Given the description of an element on the screen output the (x, y) to click on. 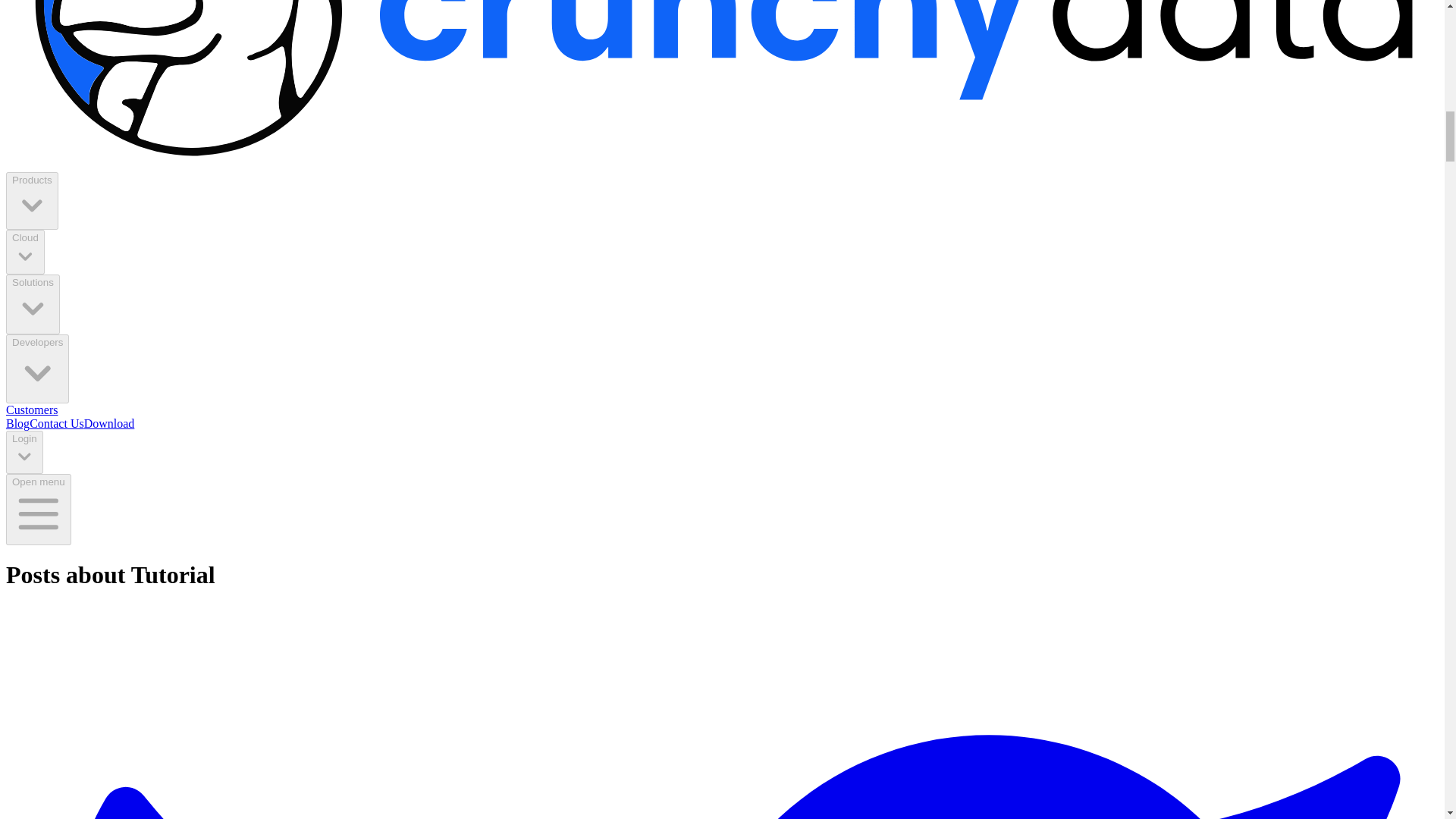
Open menu (38, 509)
Blog (17, 422)
Login (24, 452)
Products (31, 200)
Customers (31, 409)
Cloud (25, 252)
Developers (36, 368)
Contact Us (56, 422)
Solutions (32, 304)
Download (109, 422)
